Given the description of an element on the screen output the (x, y) to click on. 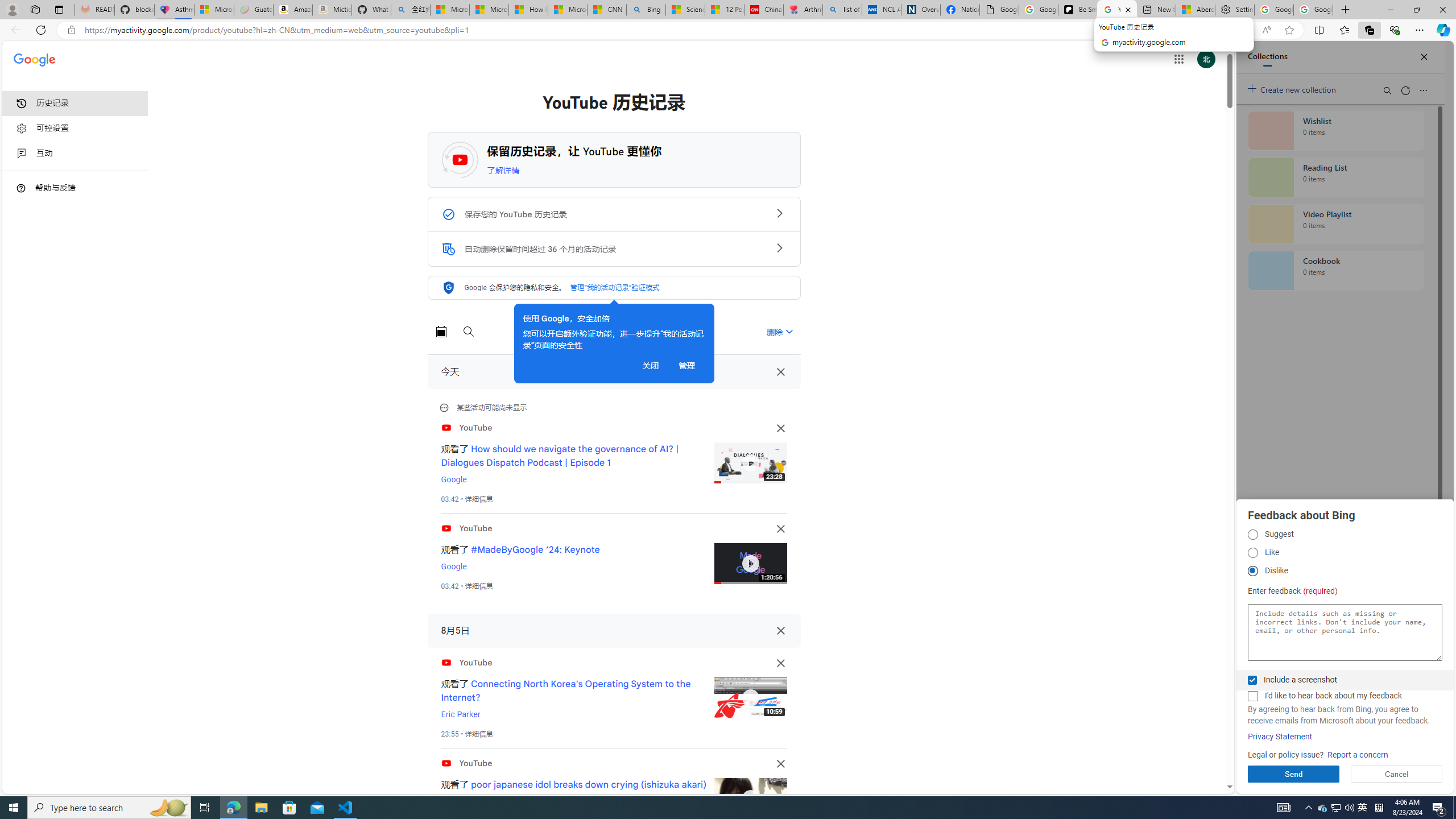
poor japanese idol breaks down crying (ishizuka akari) (588, 784)
AutomationID: fbpgdgtp2 (1252, 552)
Class: TjcpUd NMm5M (780, 763)
Class: gD71Gb NMm5M hhikbc (778, 247)
AutomationID: fbpgdgsschk (1251, 679)
